Given the description of an element on the screen output the (x, y) to click on. 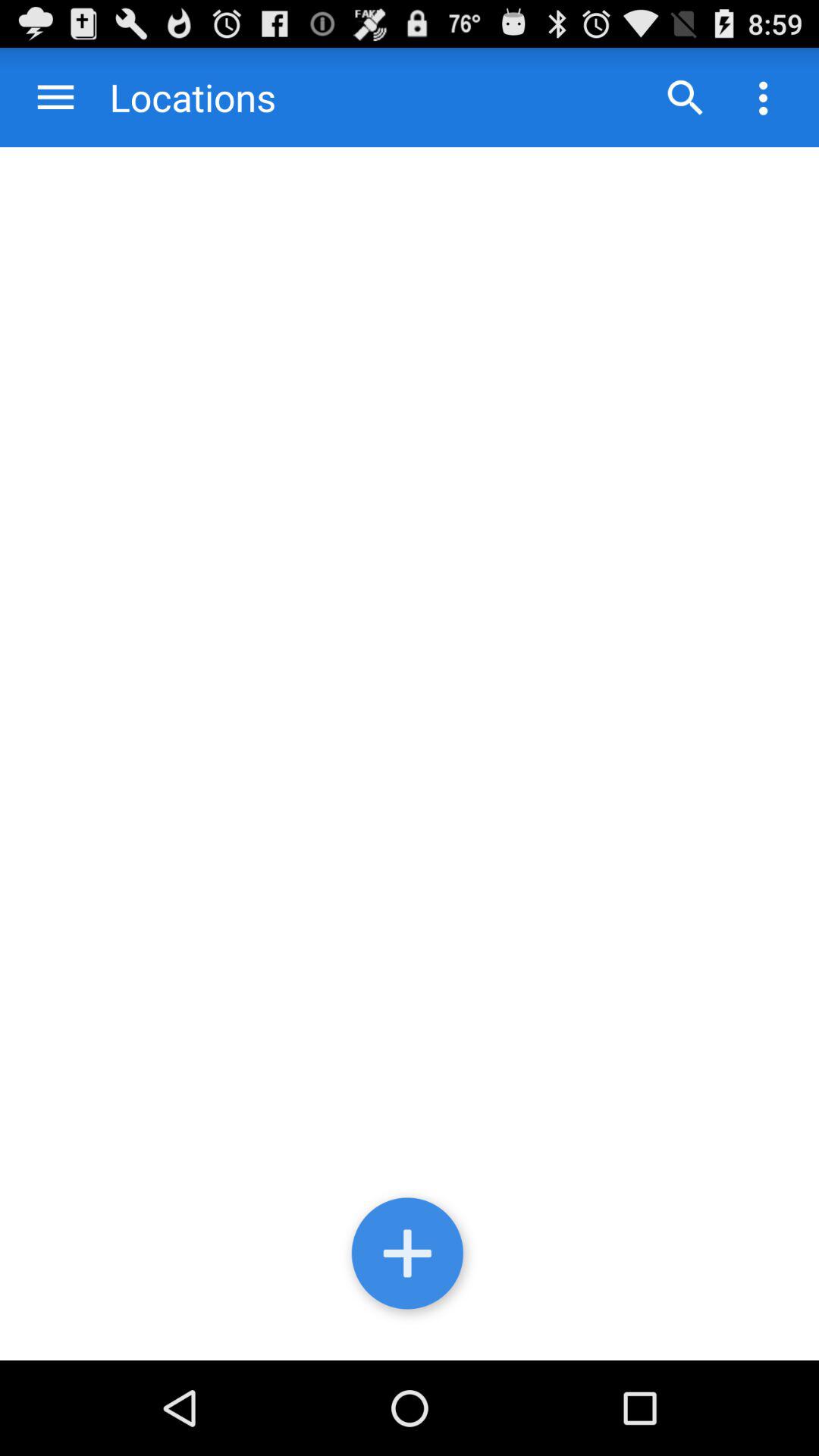
go (685, 97)
